Given the description of an element on the screen output the (x, y) to click on. 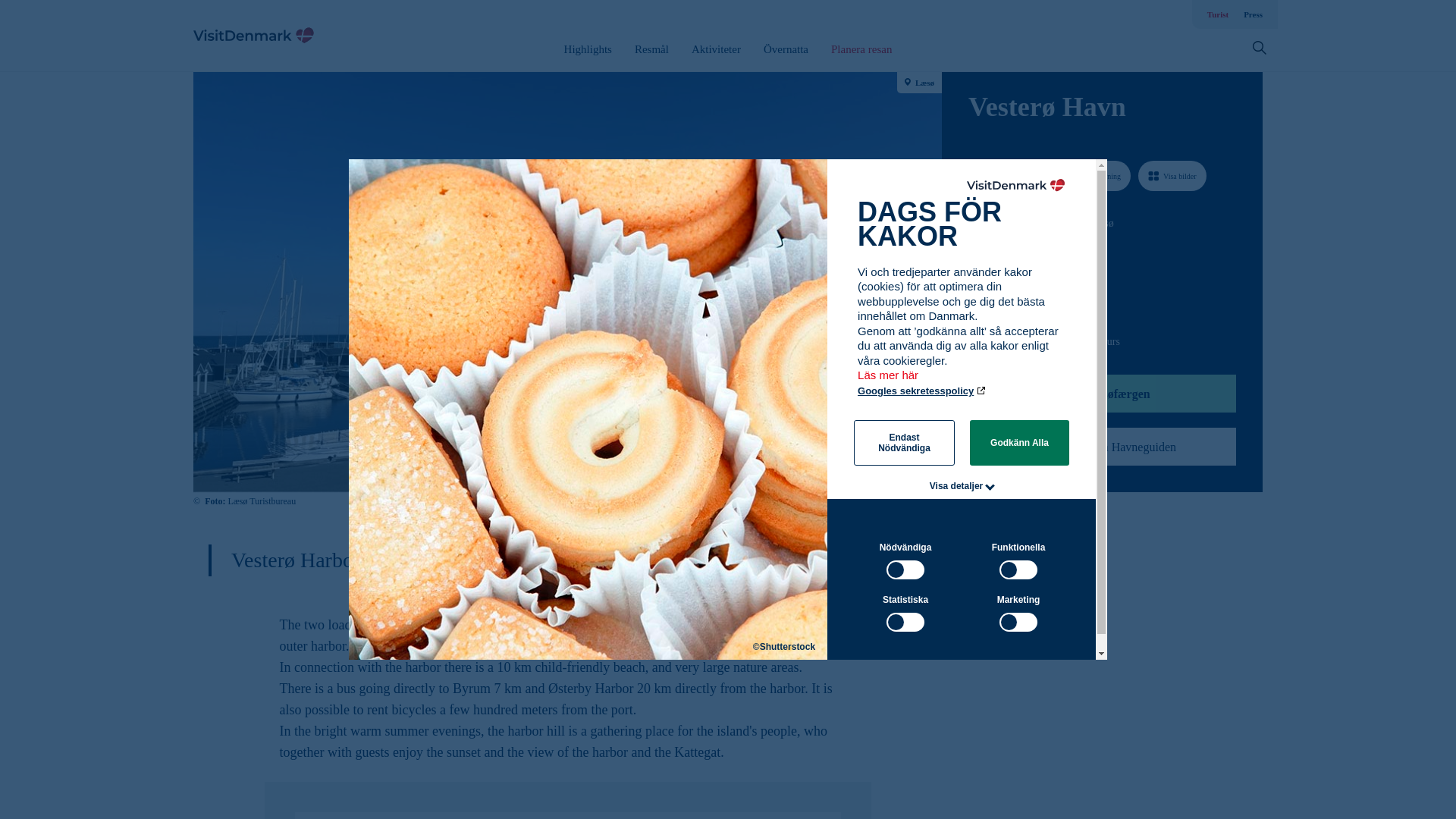
Path (973, 310)
Googles sekretesspolicy (922, 390)
Visa detaljer (957, 485)
Path (973, 250)
